Given the description of an element on the screen output the (x, y) to click on. 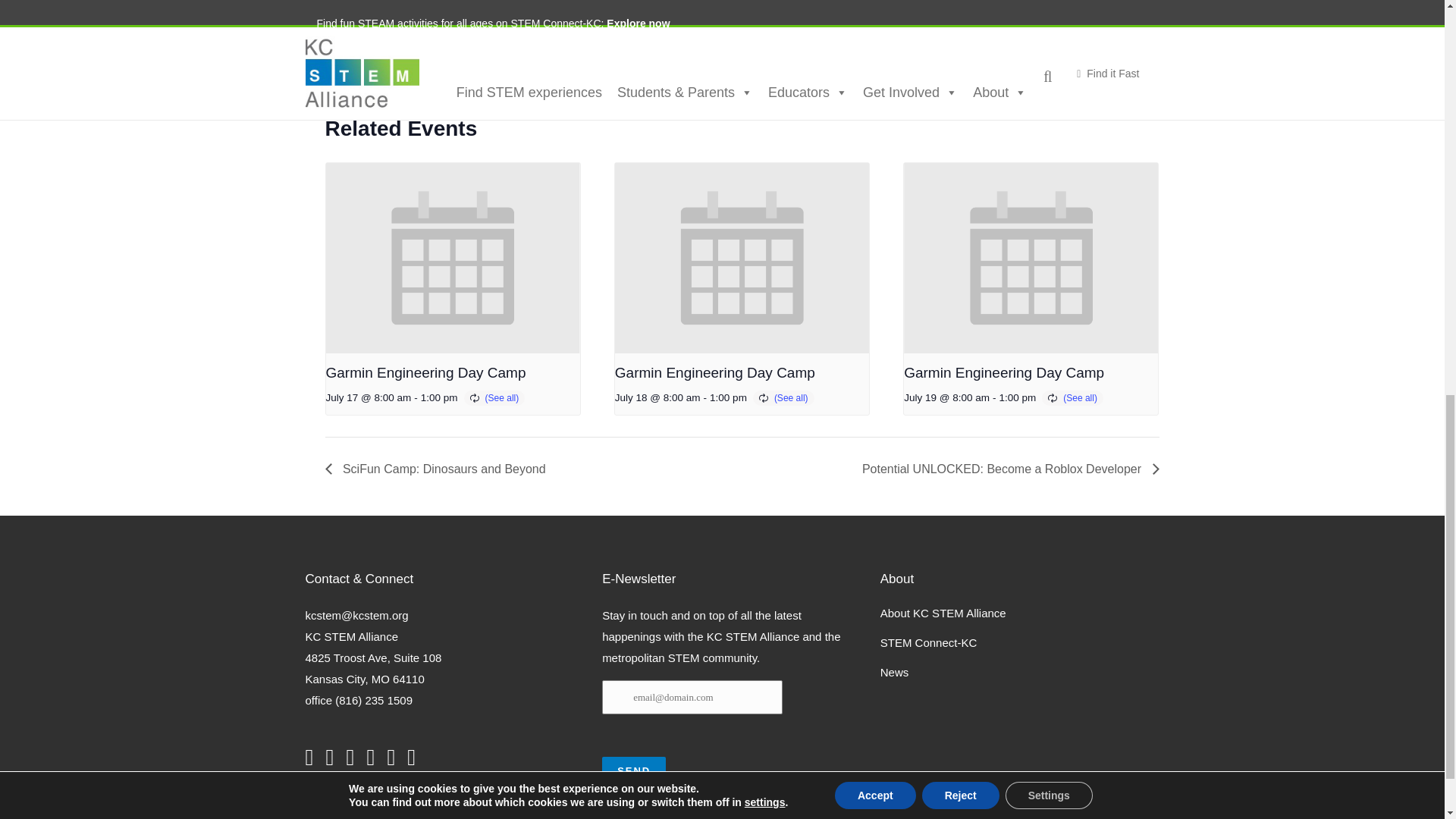
SEND (633, 771)
